Given the description of an element on the screen output the (x, y) to click on. 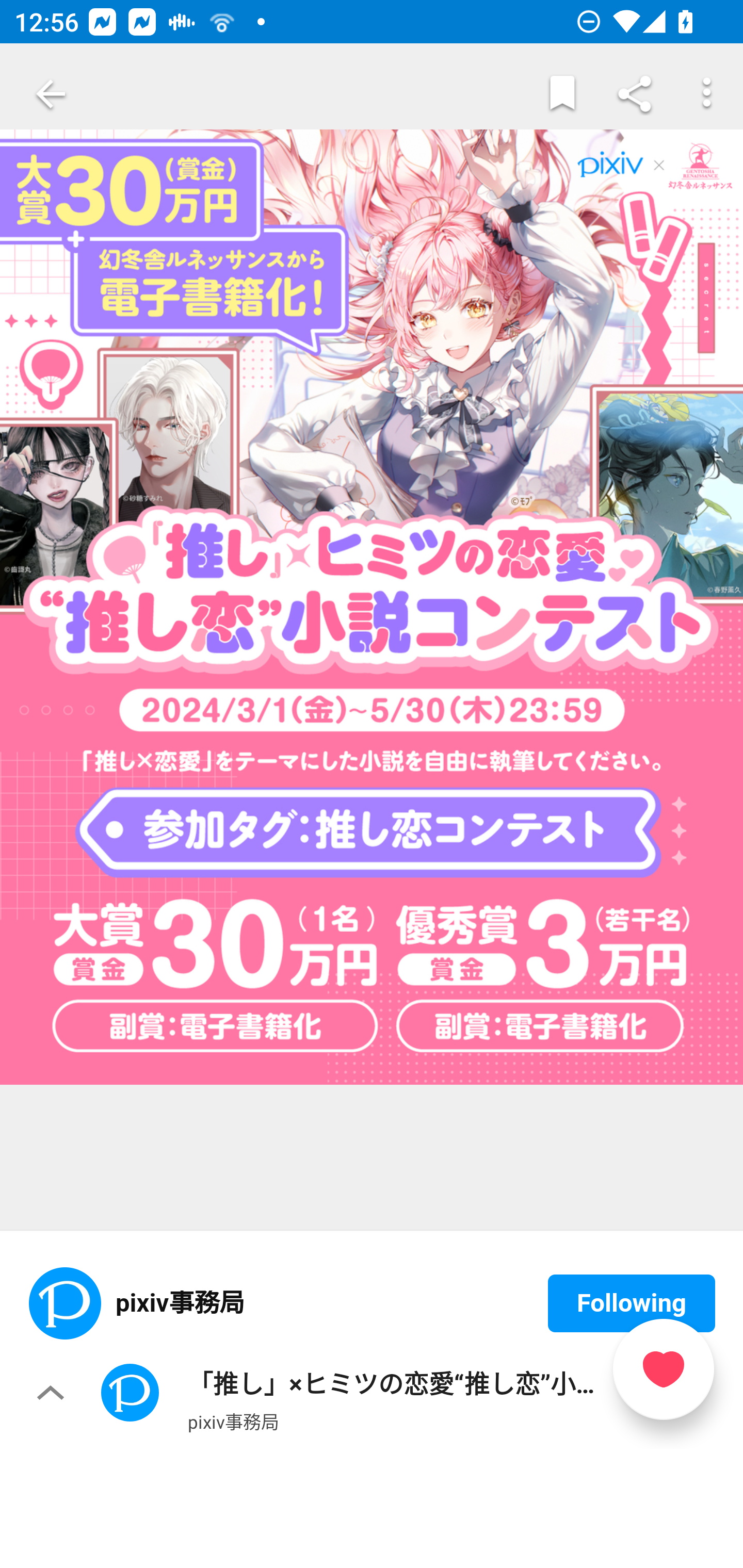
Navigate up (50, 93)
Markers (562, 93)
Share (634, 93)
More options (706, 93)
Following (631, 1304)
pixiv事務局 (233, 1421)
